Given the description of an element on the screen output the (x, y) to click on. 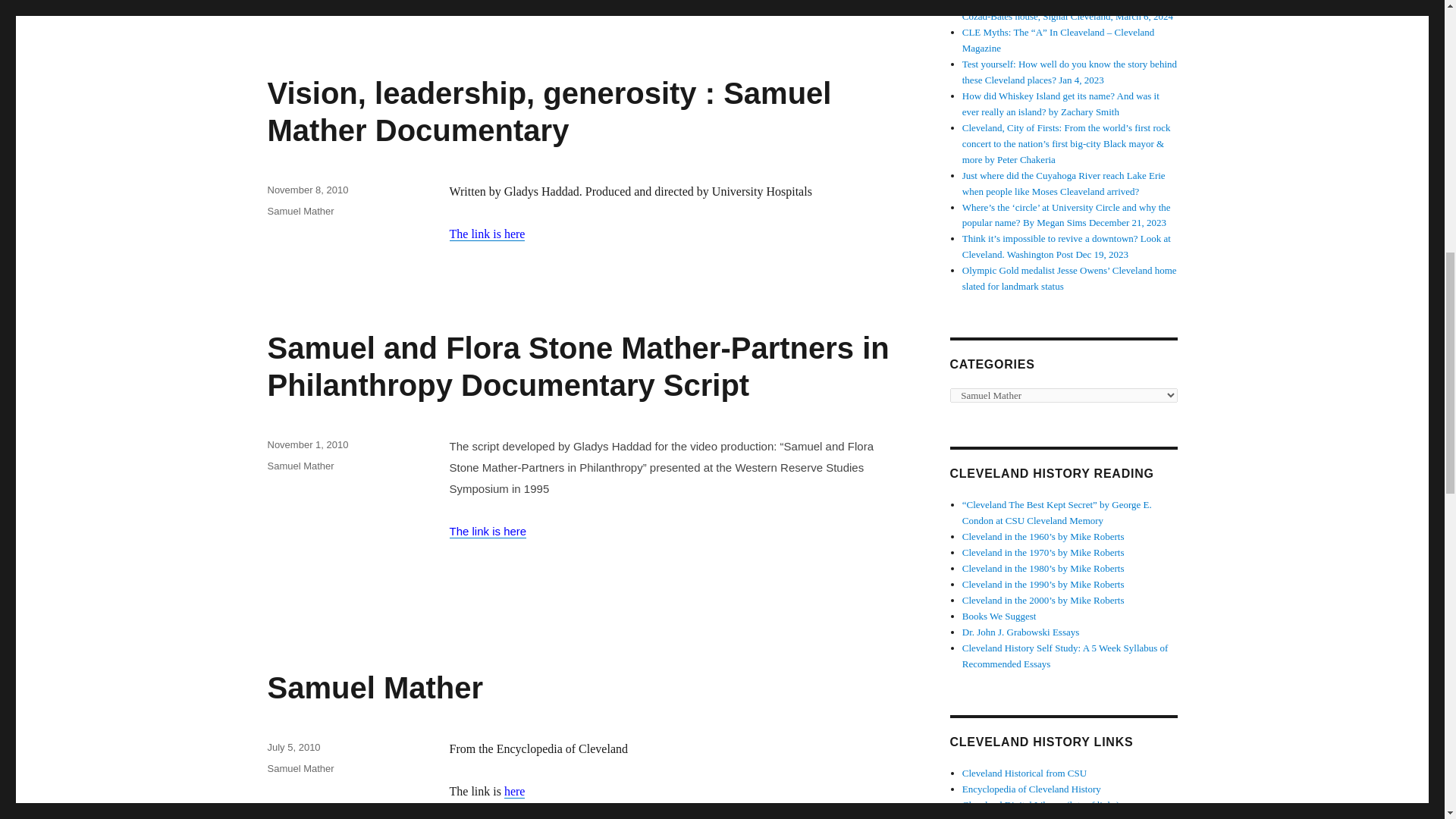
November 1, 2010 (306, 444)
November 8, 2010 (306, 189)
Samuel Mather (299, 211)
here (514, 790)
July 5, 2010 (293, 747)
Samuel Mather (299, 465)
The link is here (486, 233)
Samuel Mather (299, 767)
Samuel Mather (374, 687)
